Given the description of an element on the screen output the (x, y) to click on. 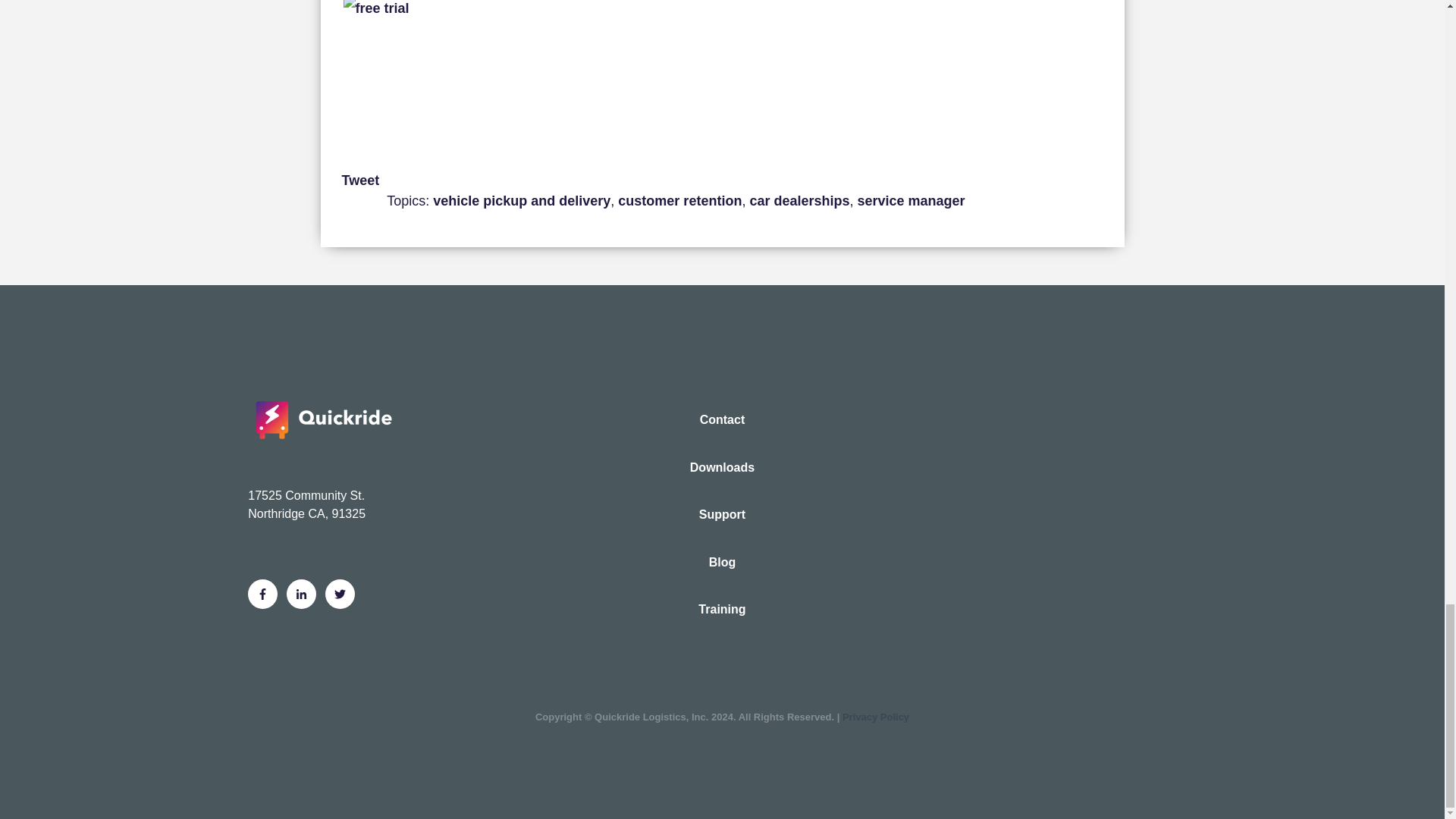
service manager (910, 200)
vehicle pickup and delivery (521, 200)
Downloads (722, 467)
Blog (722, 562)
car dealerships (798, 200)
customer retention (679, 200)
Contact (722, 419)
Training (722, 609)
Privacy Policy (875, 716)
Tweet (359, 180)
